Given the description of an element on the screen output the (x, y) to click on. 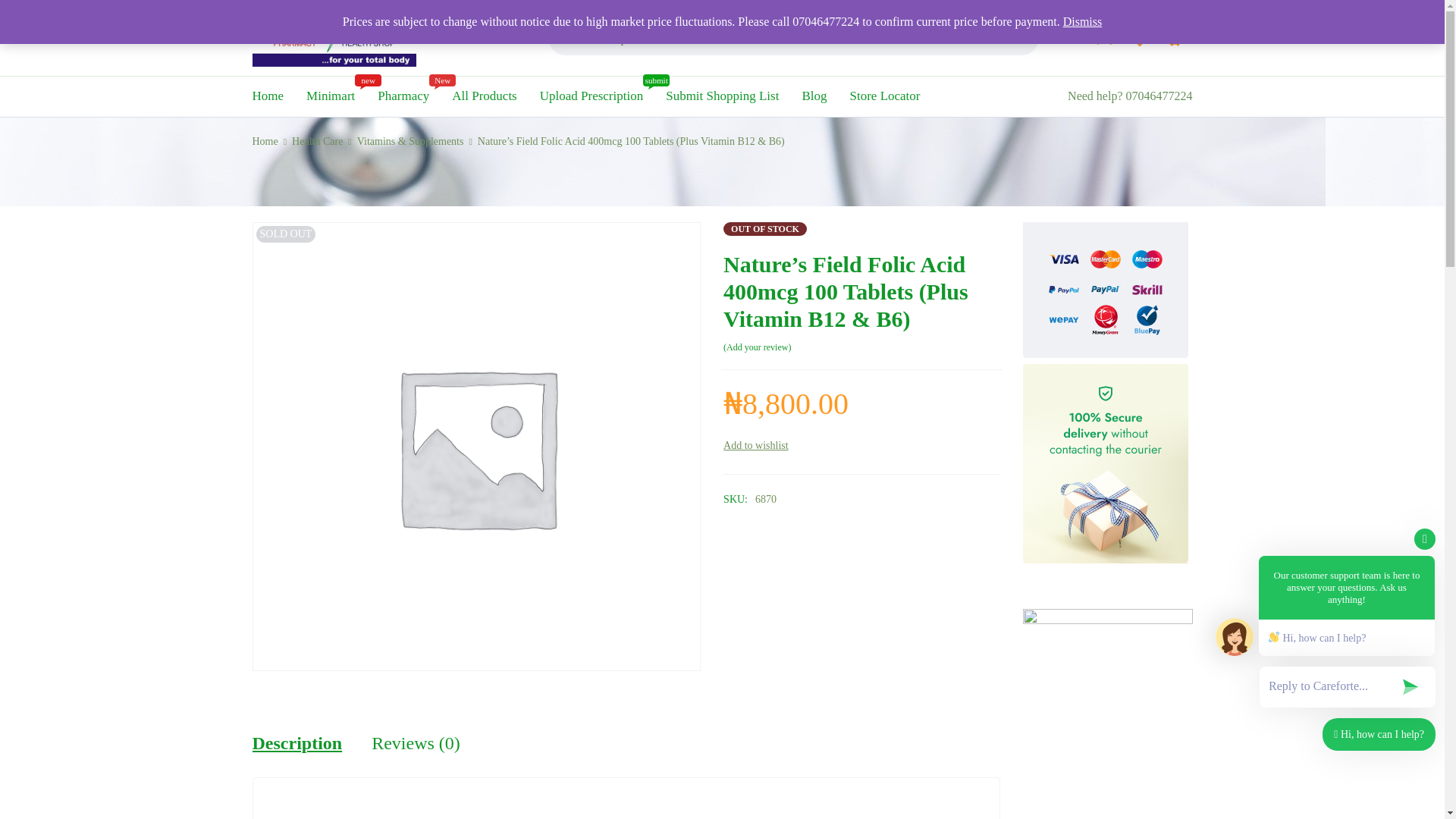
Add your review (756, 346)
Wishlist (756, 445)
Search (1015, 72)
0 (1174, 37)
Home (591, 95)
Submit Shopping List (264, 141)
All Products (721, 95)
Description (483, 95)
Health Care (296, 743)
Wishlist (403, 95)
Store Locator (317, 141)
